Given the description of an element on the screen output the (x, y) to click on. 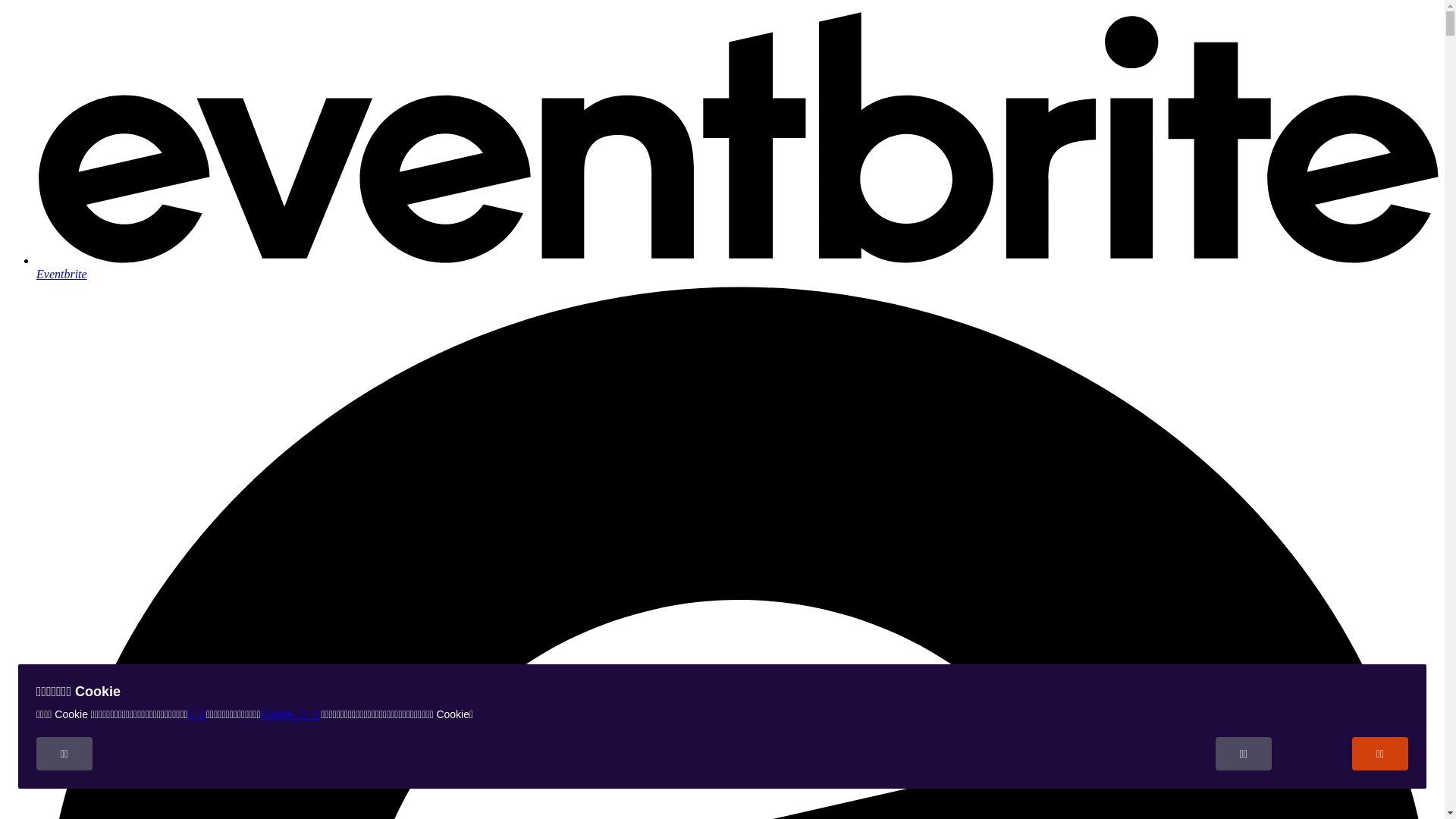
Eventbrite Element type: text (737, 267)
